Given the description of an element on the screen output the (x, y) to click on. 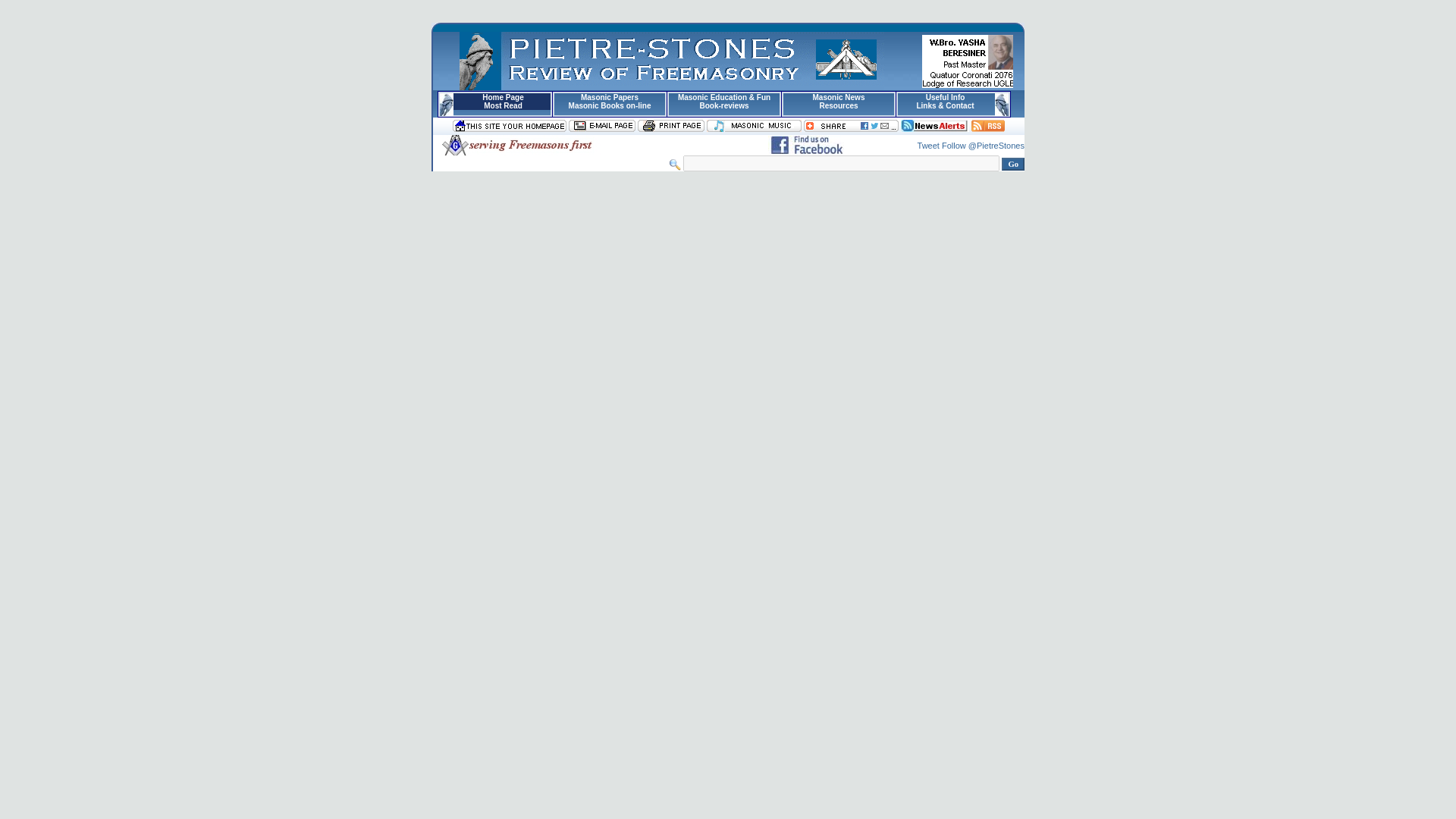
Go (1013, 164)
Tweet (928, 144)
Go (1013, 164)
